Given the description of an element on the screen output the (x, y) to click on. 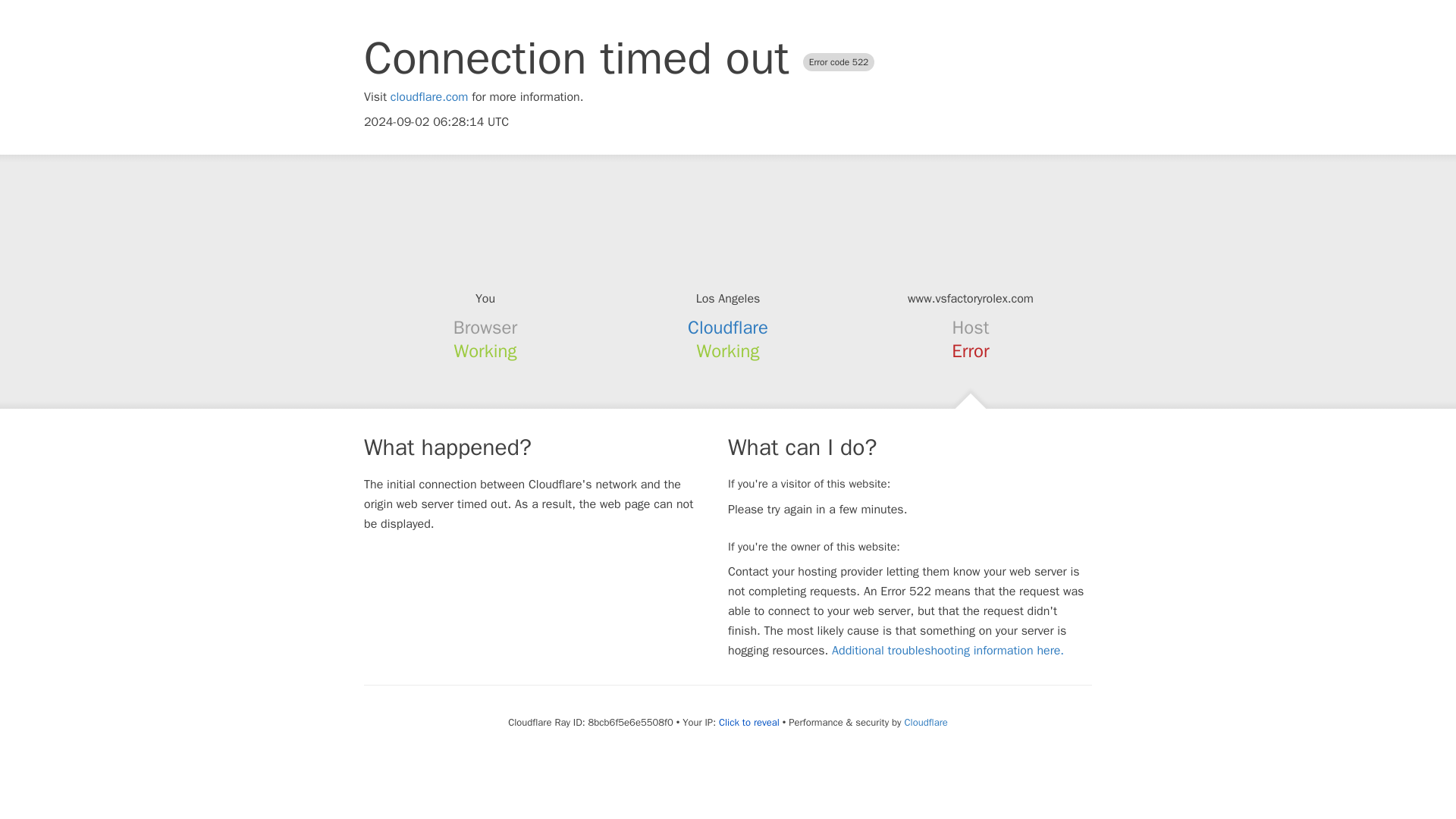
Click to reveal (748, 722)
Cloudflare (727, 327)
Additional troubleshooting information here. (947, 650)
Cloudflare (925, 721)
cloudflare.com (429, 96)
